Given the description of an element on the screen output the (x, y) to click on. 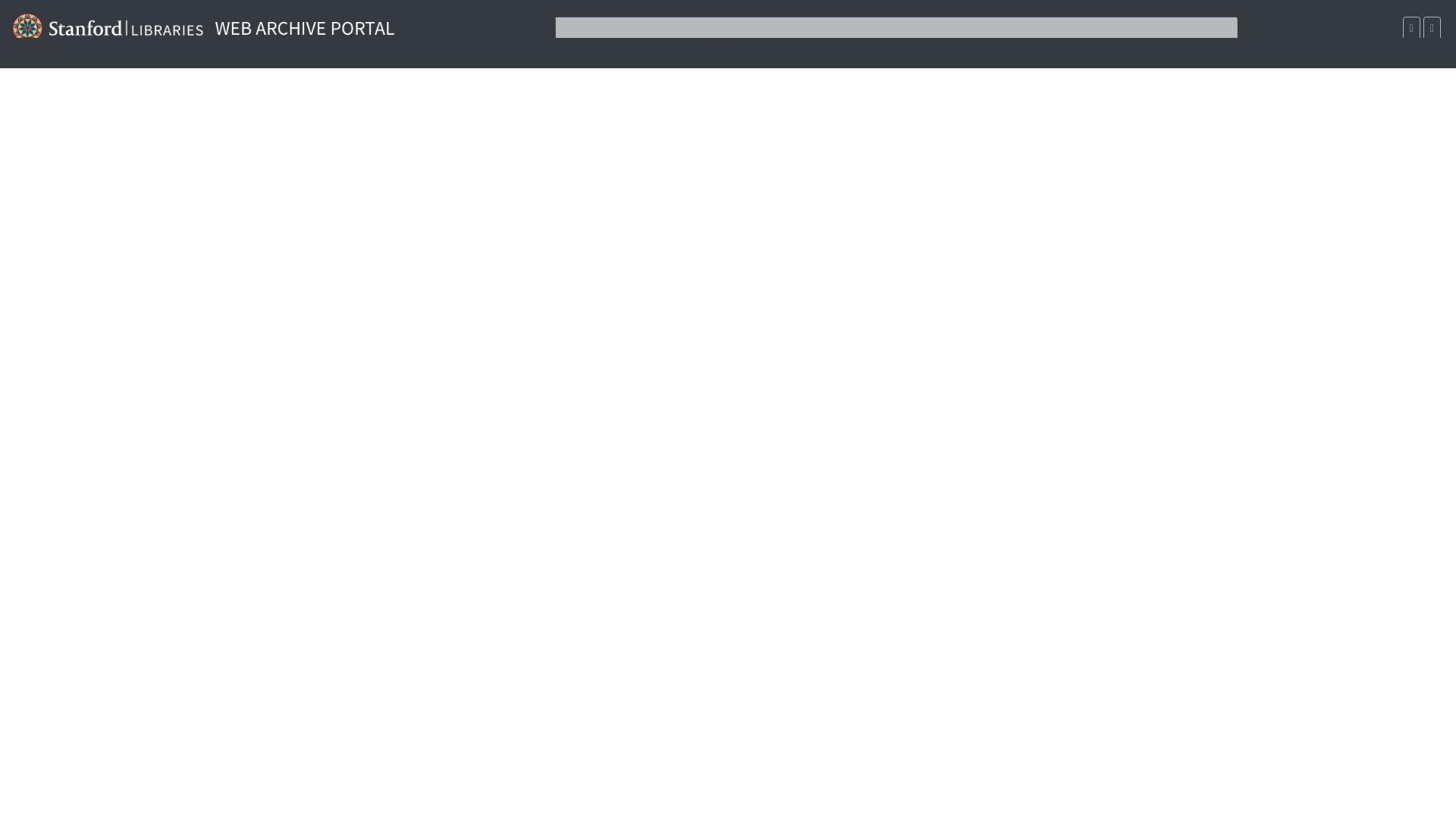
Show calendar (1412, 28)
Show timeline (1432, 28)
